Given the description of an element on the screen output the (x, y) to click on. 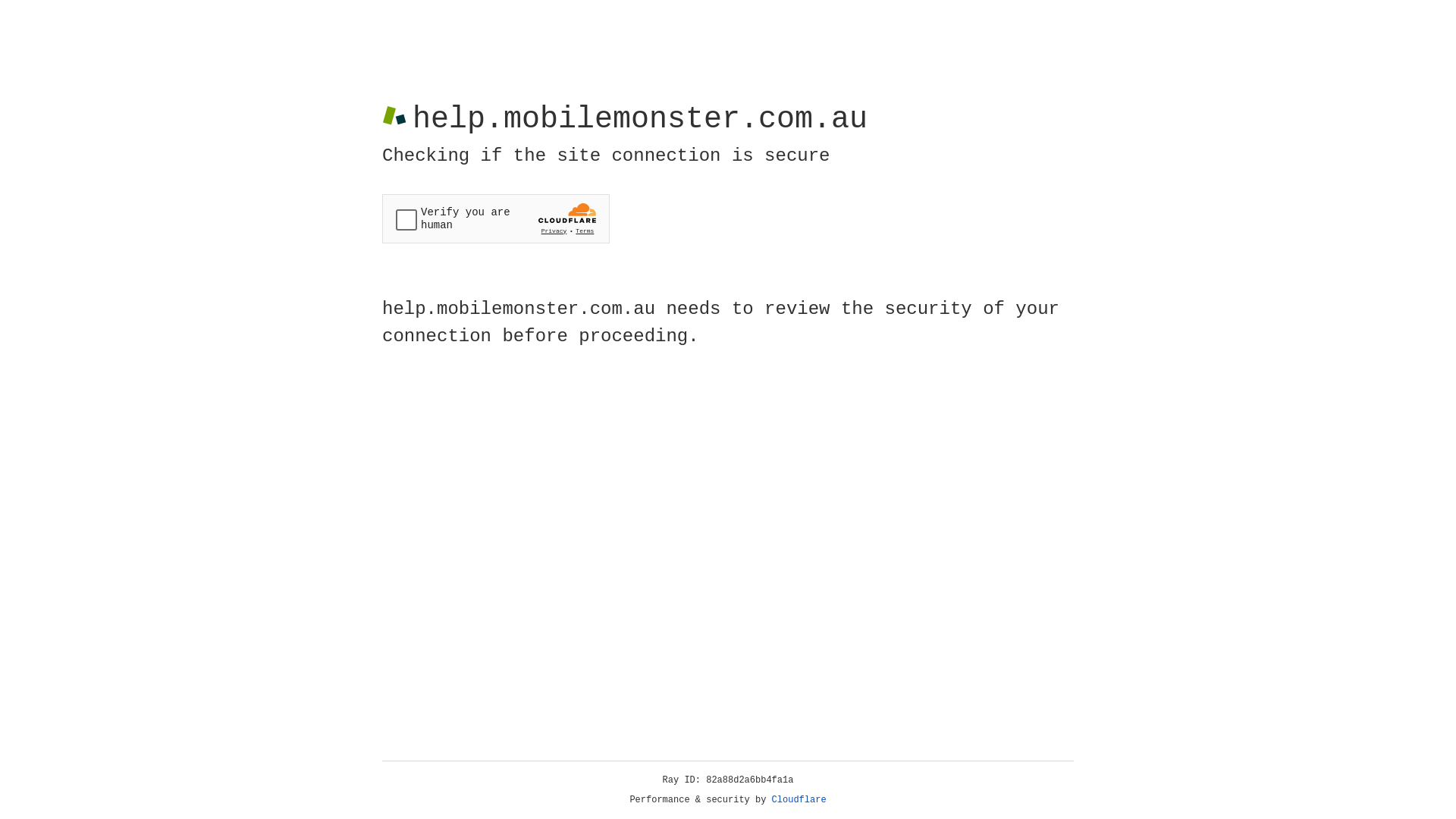
Cloudflare Element type: text (798, 799)
Widget containing a Cloudflare security challenge Element type: hover (495, 218)
